Given the description of an element on the screen output the (x, y) to click on. 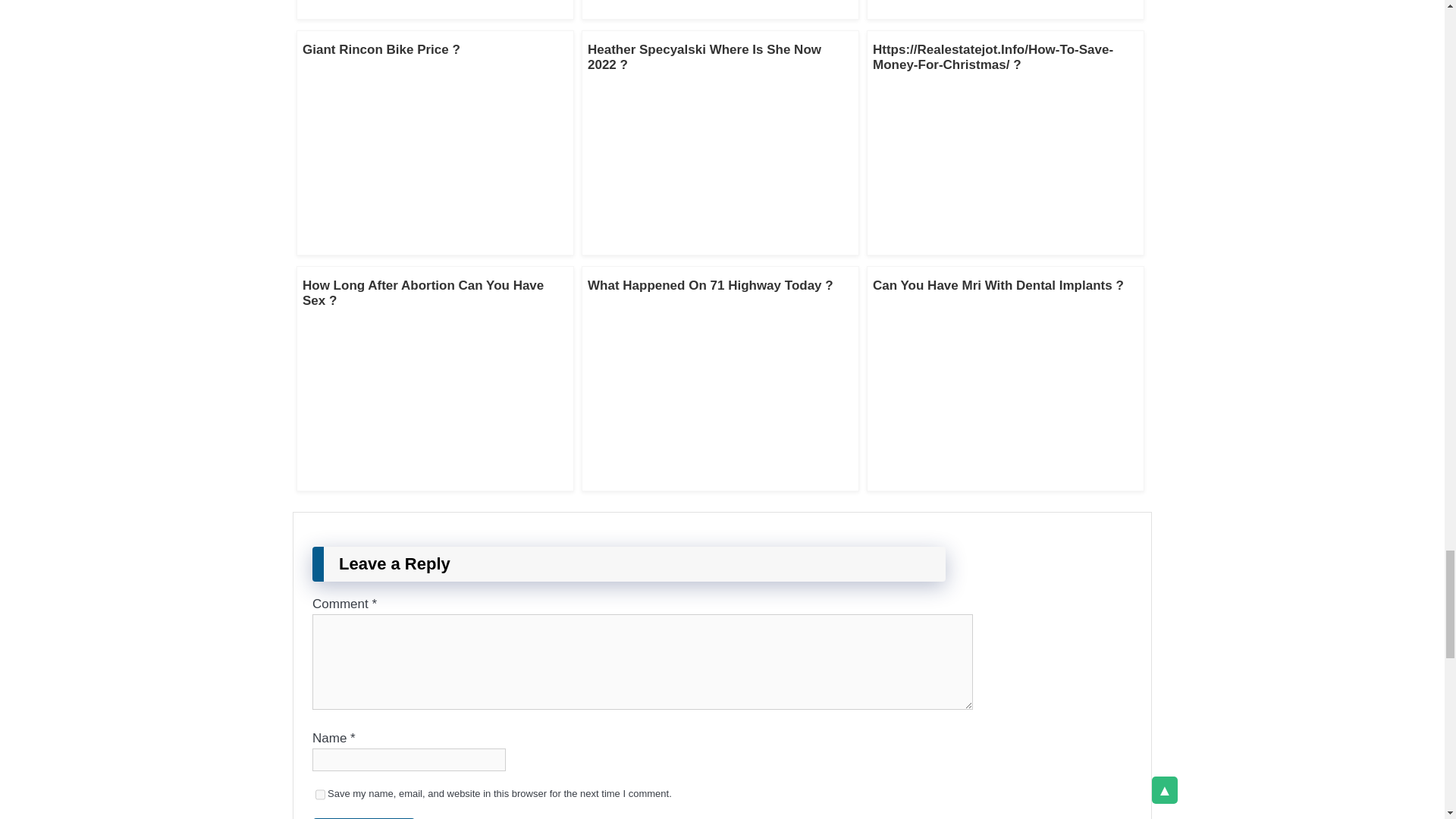
Giant Rincon Bike Price ? (381, 49)
How Long After Abortion Can You Have Sex ? (422, 292)
Heather Specyalski Where Is She Now 2022 ? (704, 57)
What Happened On 71 Highway Today ? (710, 285)
